Given the description of an element on the screen output the (x, y) to click on. 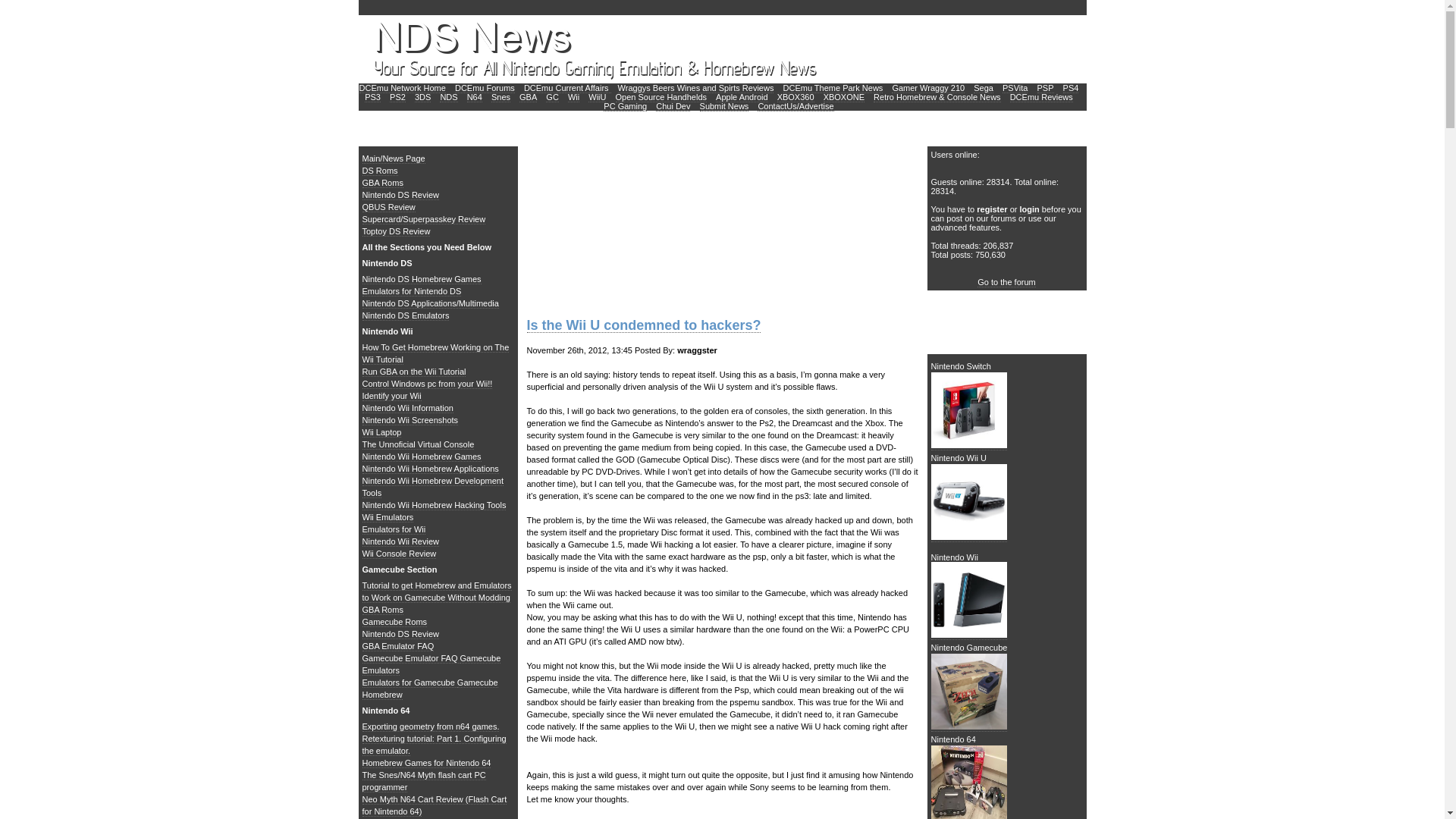
Wii (573, 97)
DS Roms (379, 171)
Submit News (724, 106)
3DS (422, 97)
PSP (1045, 88)
GBA (528, 97)
PSVita (1015, 88)
Toptoy DS Review (396, 231)
XBOX360 (795, 97)
NDS (448, 97)
Nintendo DS Review (400, 194)
Open Source Handhelds (660, 97)
Emulators for Nintendo DS (411, 291)
PS4 (1070, 88)
XBOXONE (844, 97)
